Given the description of an element on the screen output the (x, y) to click on. 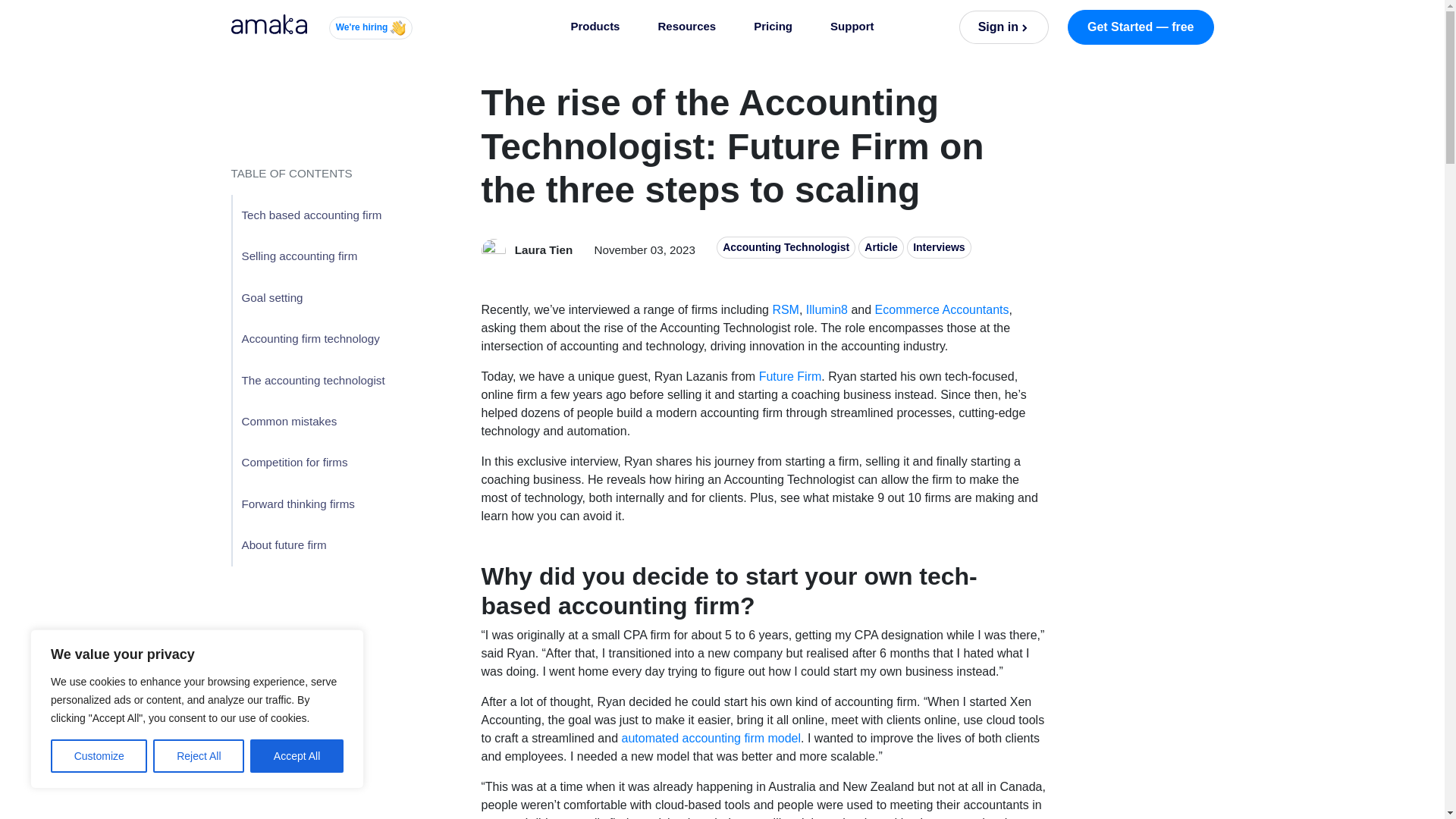
Customize (98, 756)
Support (851, 26)
Reject All (198, 756)
Accept All (296, 756)
Sign in (1003, 27)
Products (595, 26)
Resources (687, 26)
We're hiring (370, 27)
Pricing (772, 26)
